Given the description of an element on the screen output the (x, y) to click on. 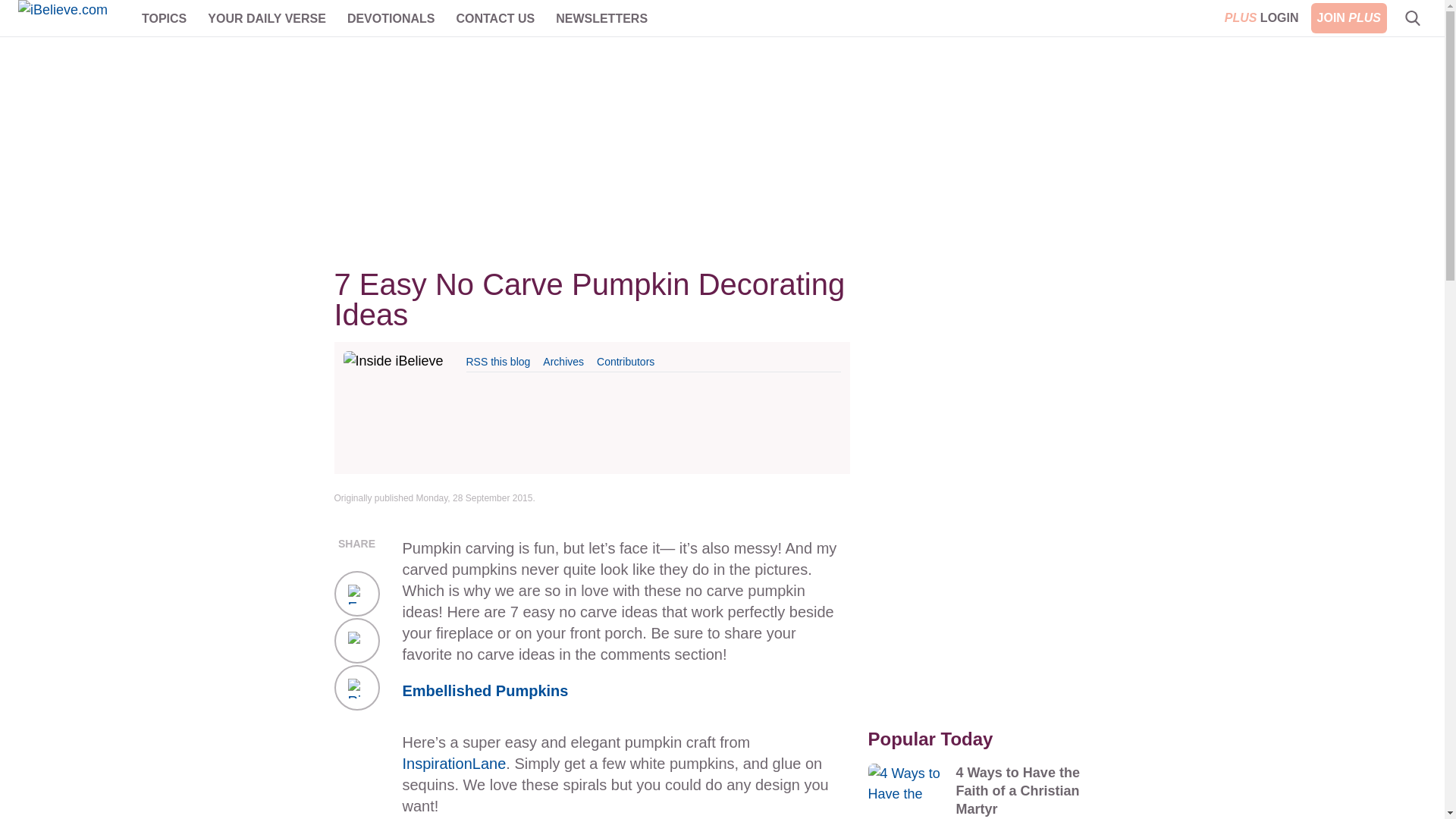
YOUR DAILY VERSE (266, 18)
JOIN PLUS (1349, 18)
iBelieve.com (73, 18)
TOPICS (163, 18)
PLUS LOGIN (1261, 18)
DEVOTIONALS (390, 18)
CONTACT US (494, 18)
NEWSLETTERS (601, 18)
